Given the description of an element on the screen output the (x, y) to click on. 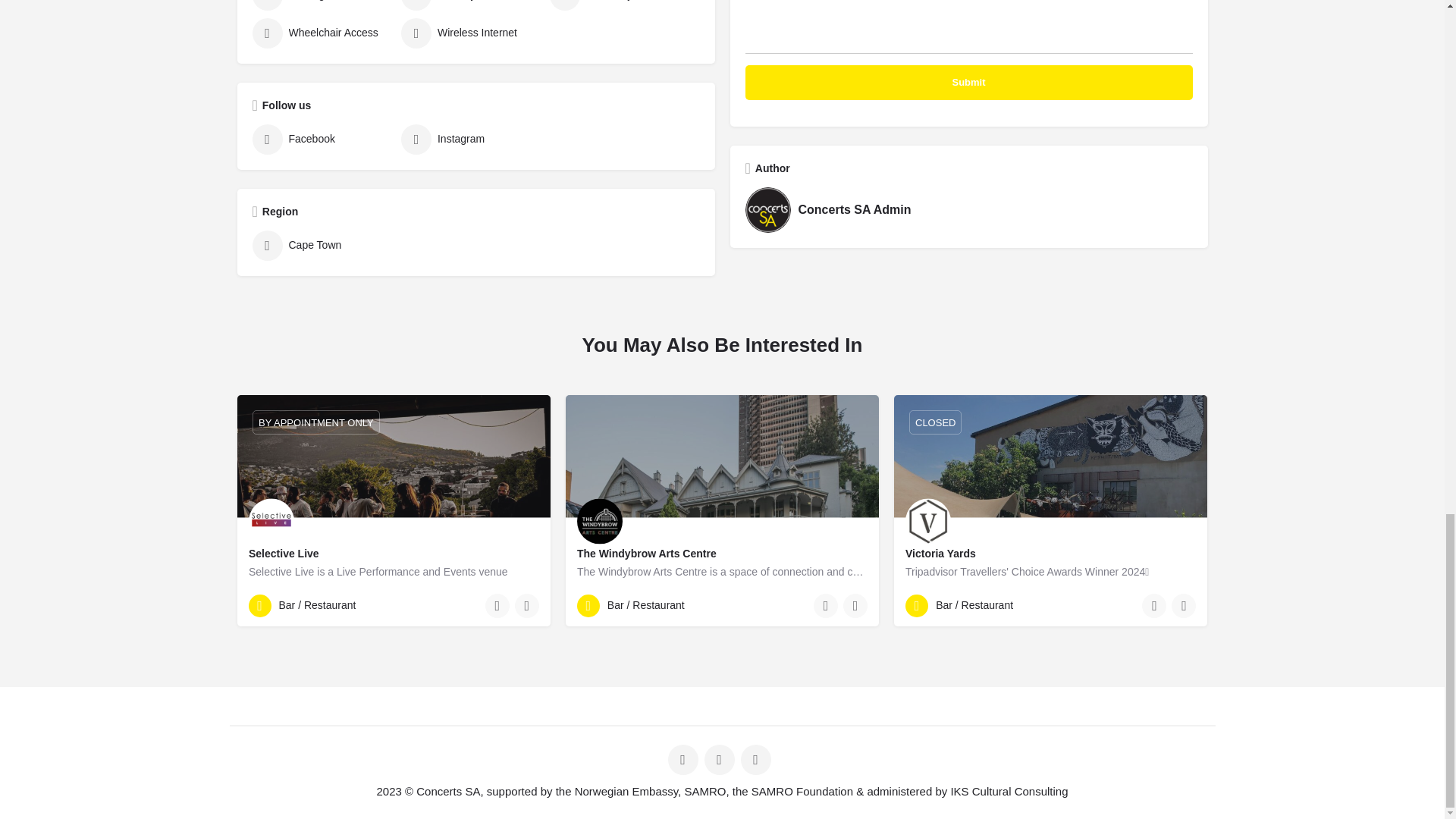
Submit (968, 82)
